Given the description of an element on the screen output the (x, y) to click on. 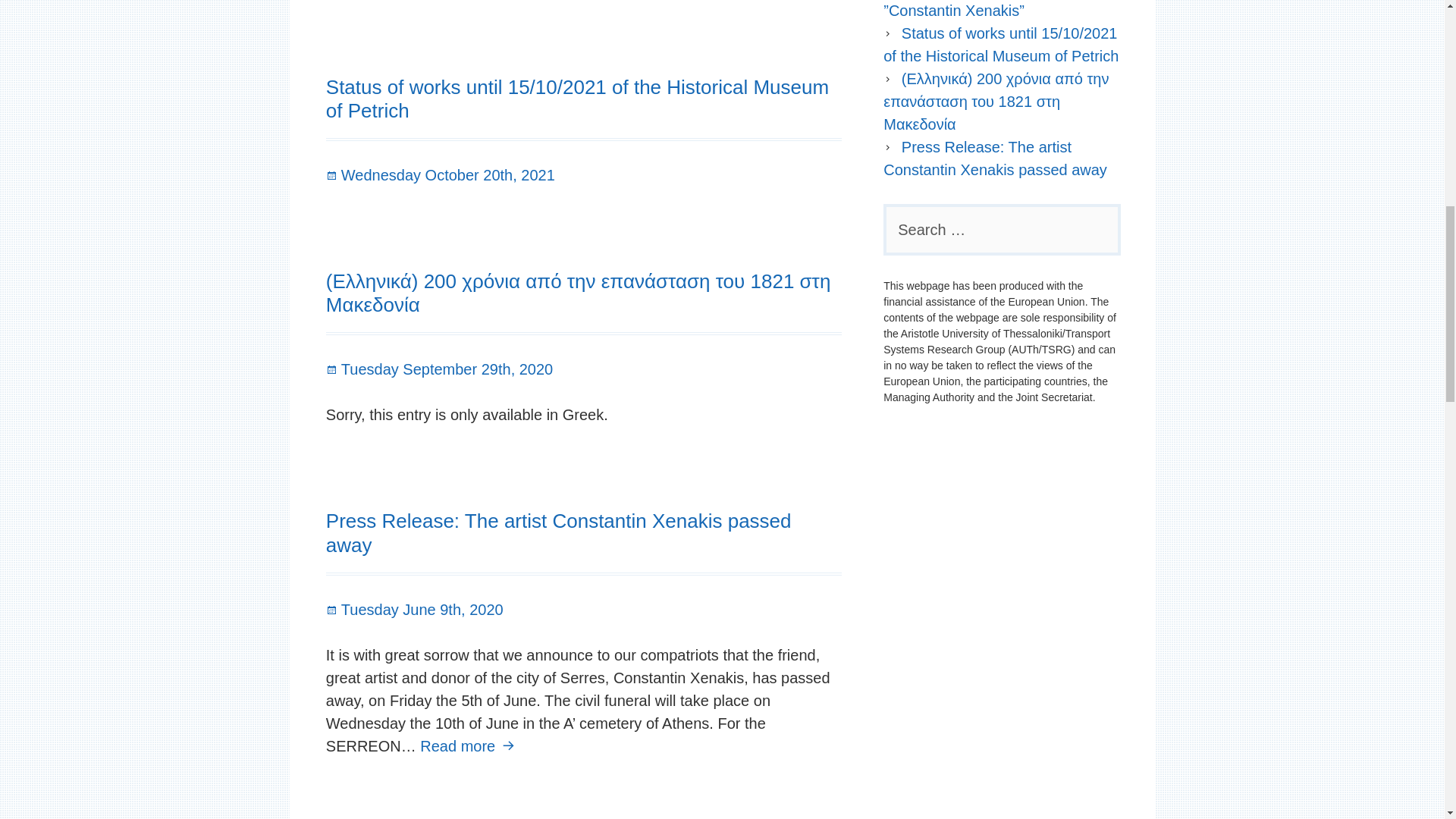
Press Release: The artist Constantin Xenakis passed away (559, 532)
Wednesday October 20th, 2021 (440, 175)
Tuesday September 29th, 2020 (439, 369)
Tuesday June 9th, 2020 (414, 609)
